Given the description of an element on the screen output the (x, y) to click on. 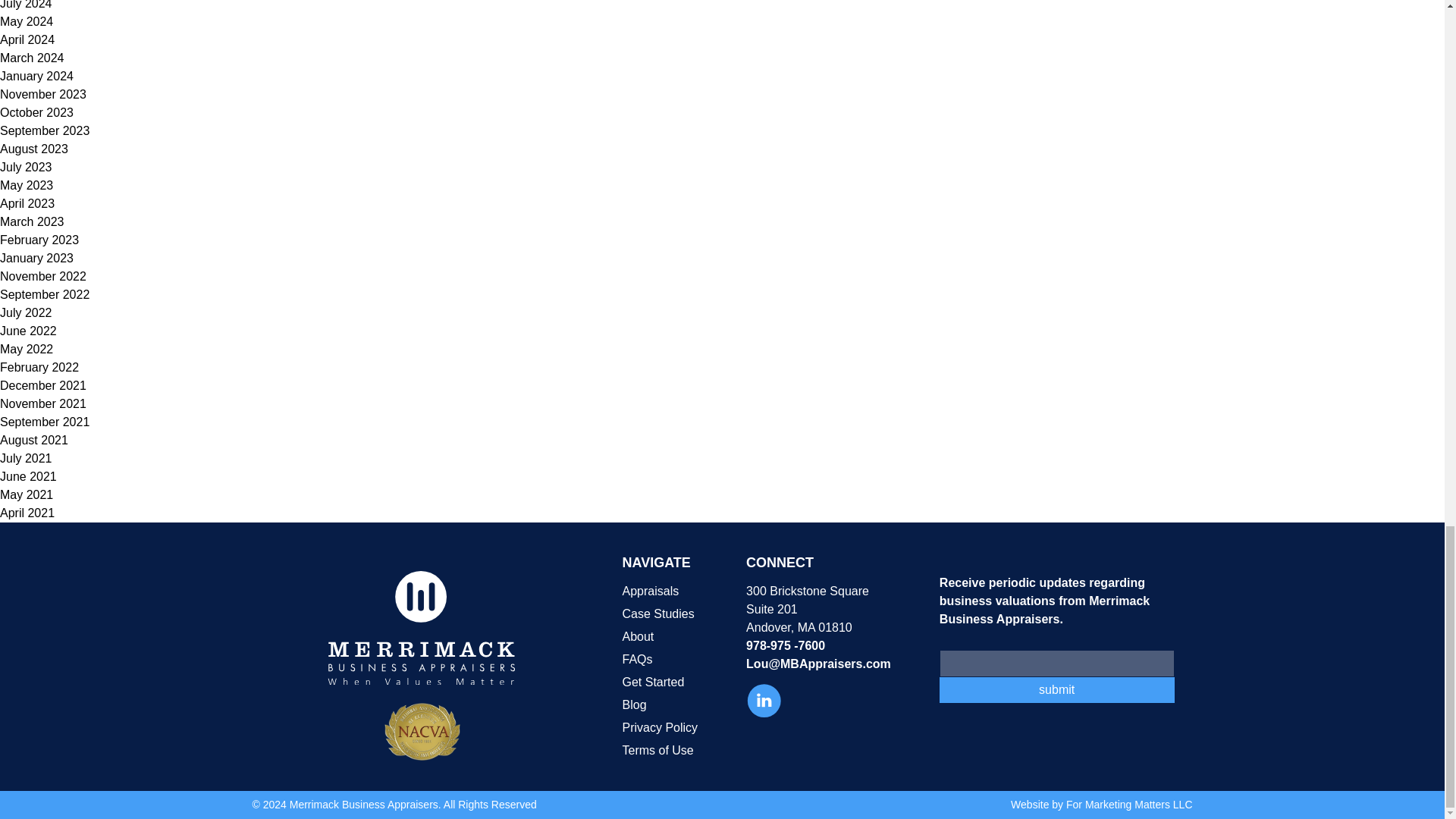
Submit (1056, 689)
May 2024 (26, 21)
July 2024 (26, 4)
April 2024 (27, 39)
